Given the description of an element on the screen output the (x, y) to click on. 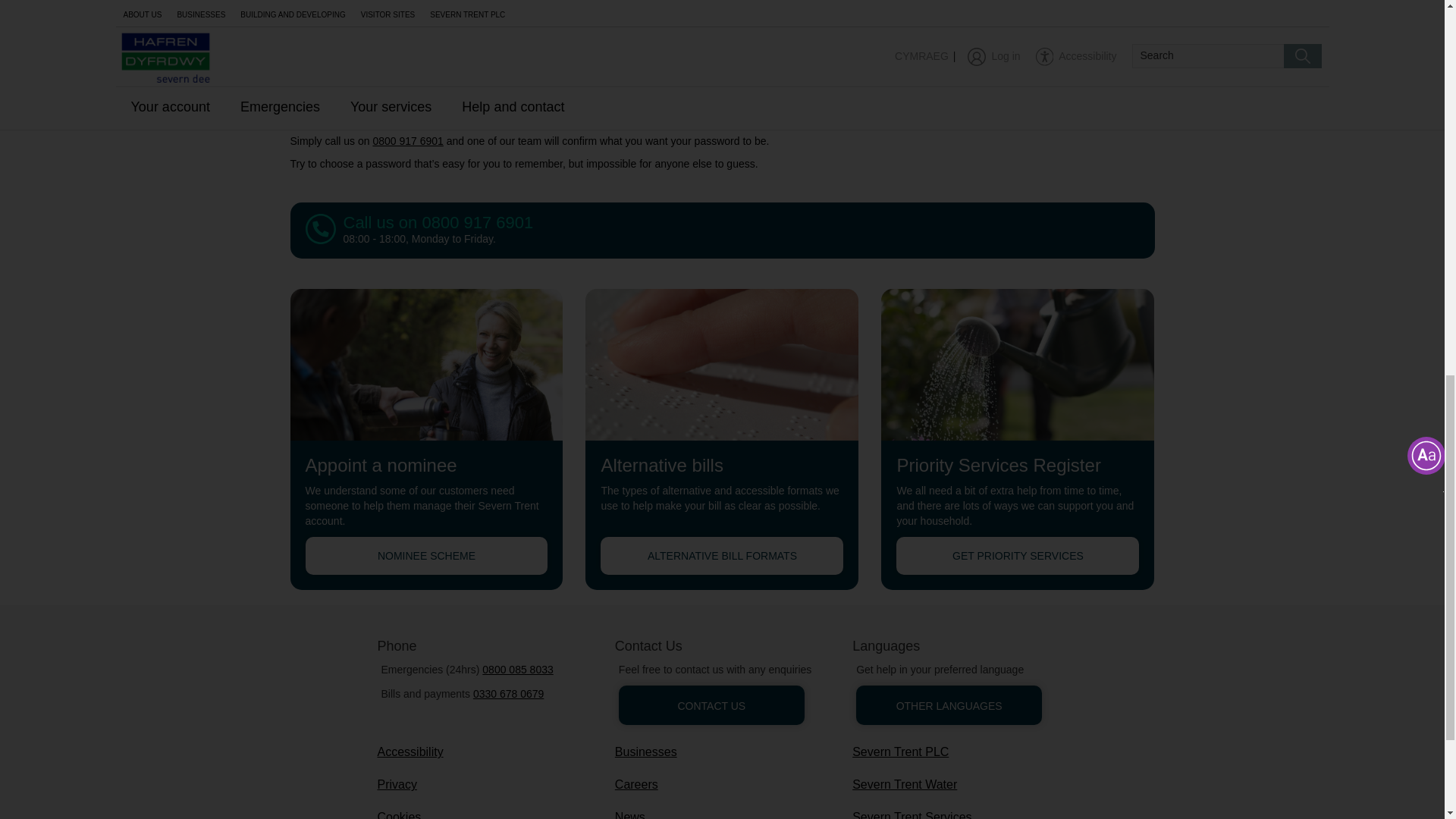
Call our care and assistance team (407, 141)
